Given the description of an element on the screen output the (x, y) to click on. 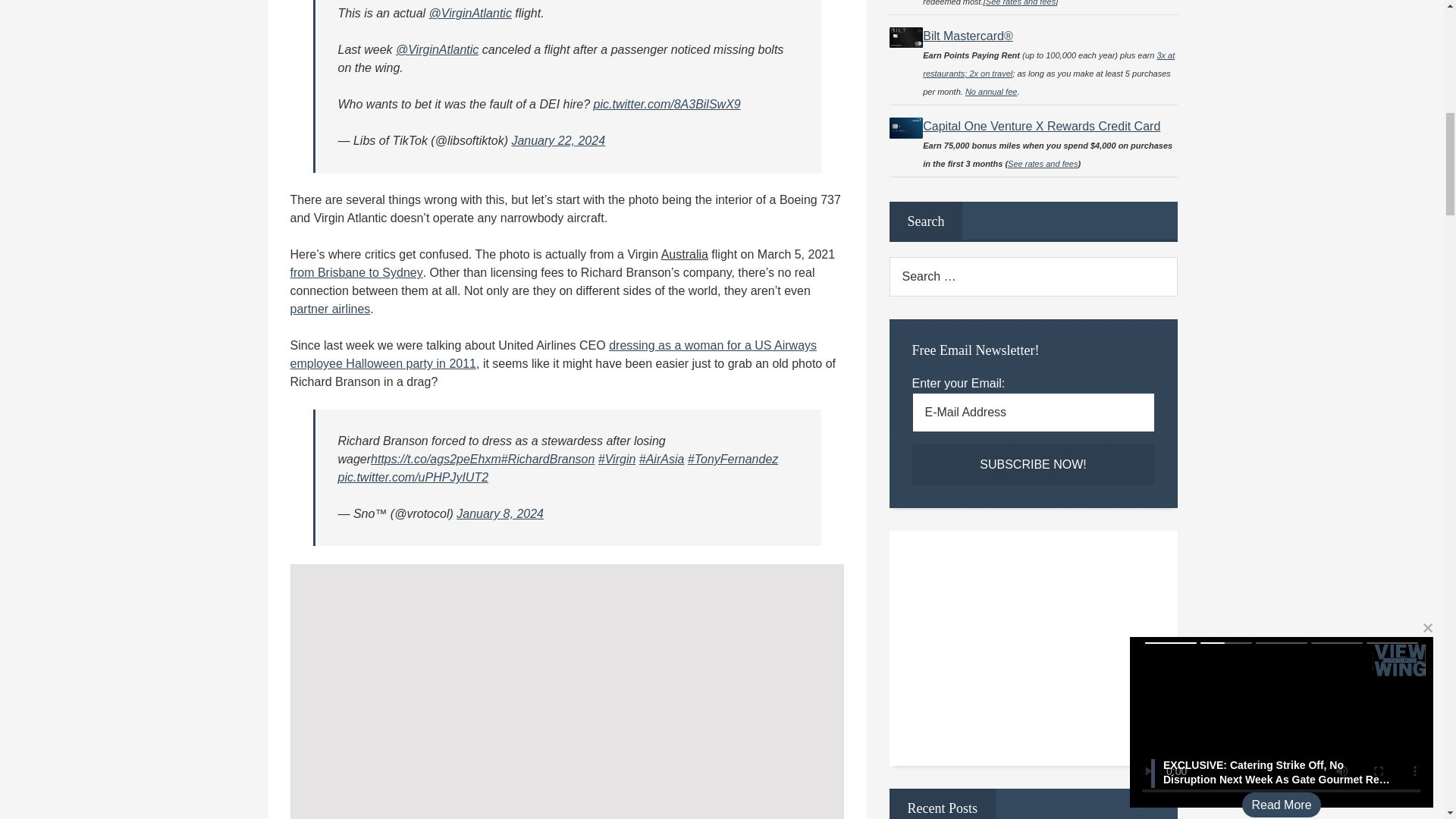
Subscribe Now! (1032, 464)
January 22, 2024 (558, 140)
from Brisbane to Sydney (355, 272)
January 8, 2024 (500, 513)
partner airlines (329, 308)
E-Mail Address (1032, 412)
